Given the description of an element on the screen output the (x, y) to click on. 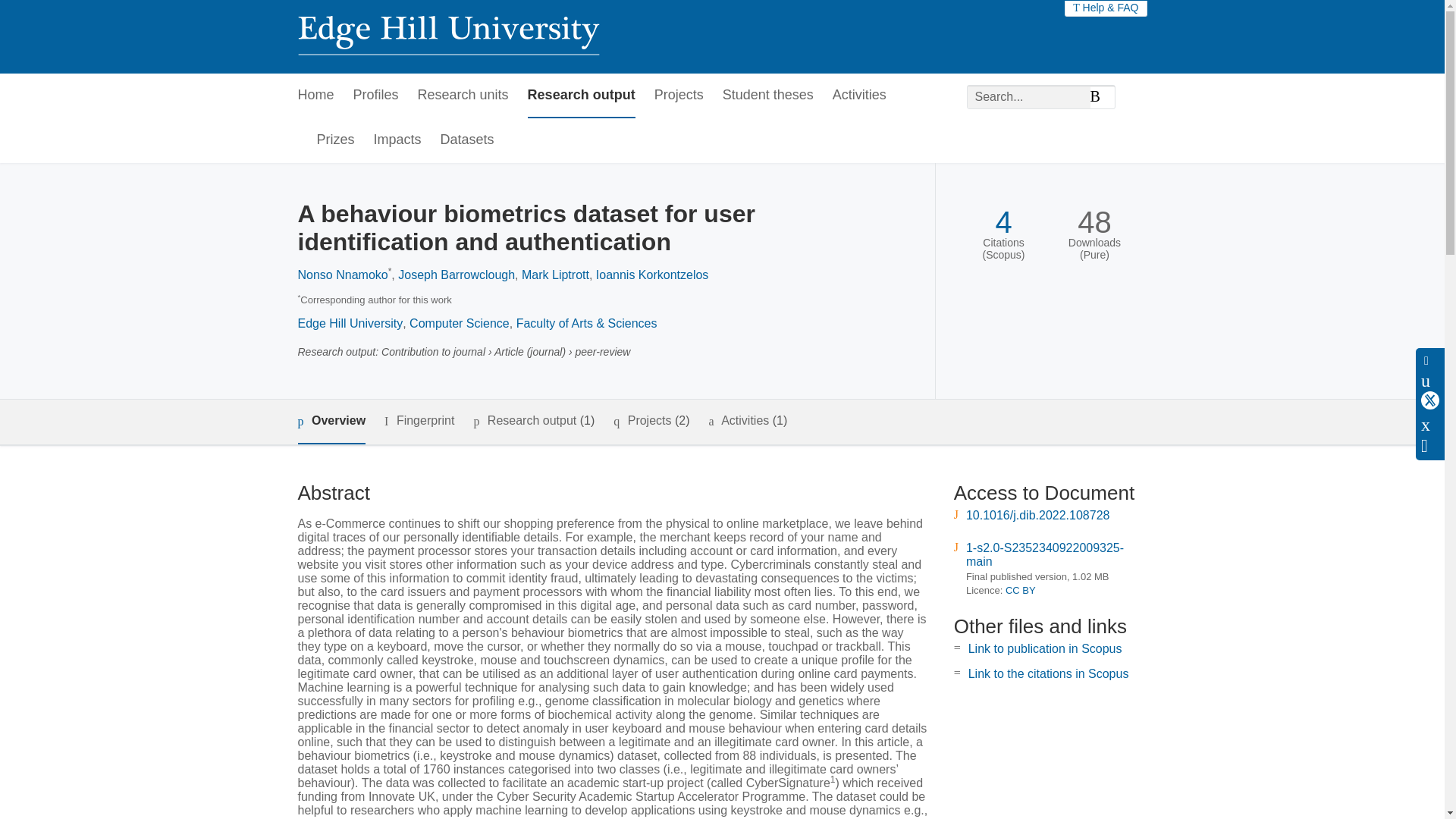
Link to the citations in Scopus (1048, 673)
Mark Liptrott (555, 274)
Computer Science (459, 323)
Impacts (398, 139)
Profiles (375, 95)
Joseph Barrowclough (456, 274)
Edge Hill University (350, 323)
Link to publication in Scopus (1045, 648)
Research output (580, 95)
Student theses (767, 95)
Fingerprint (419, 421)
Nonso Nnamoko (342, 274)
1-s2.0-S2352340922009325-main (1045, 554)
CC BY (1020, 590)
Activities (859, 95)
